Given the description of an element on the screen output the (x, y) to click on. 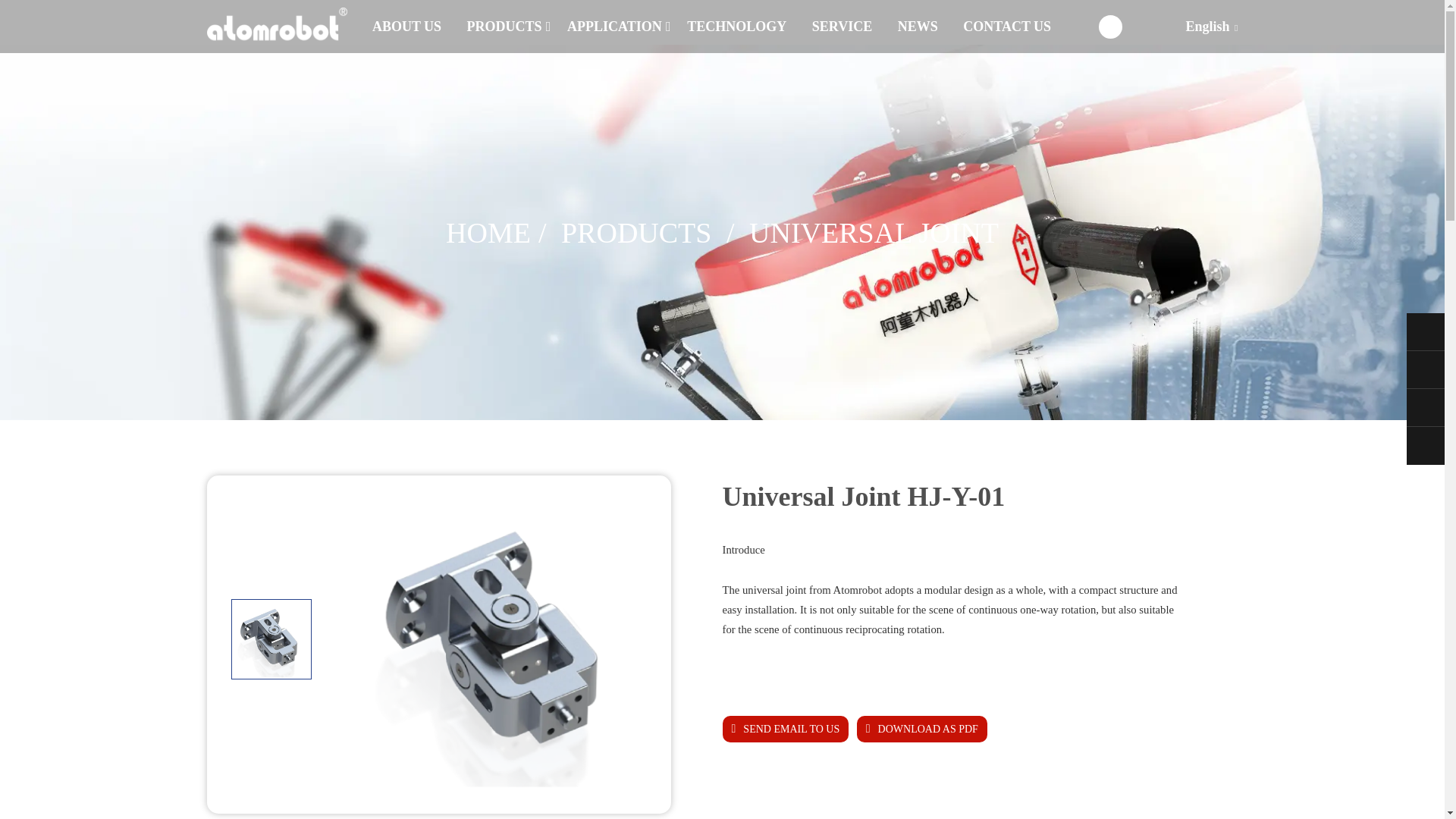
PRODUCTS (504, 26)
ABOUT US (406, 26)
